Given the description of an element on the screen output the (x, y) to click on. 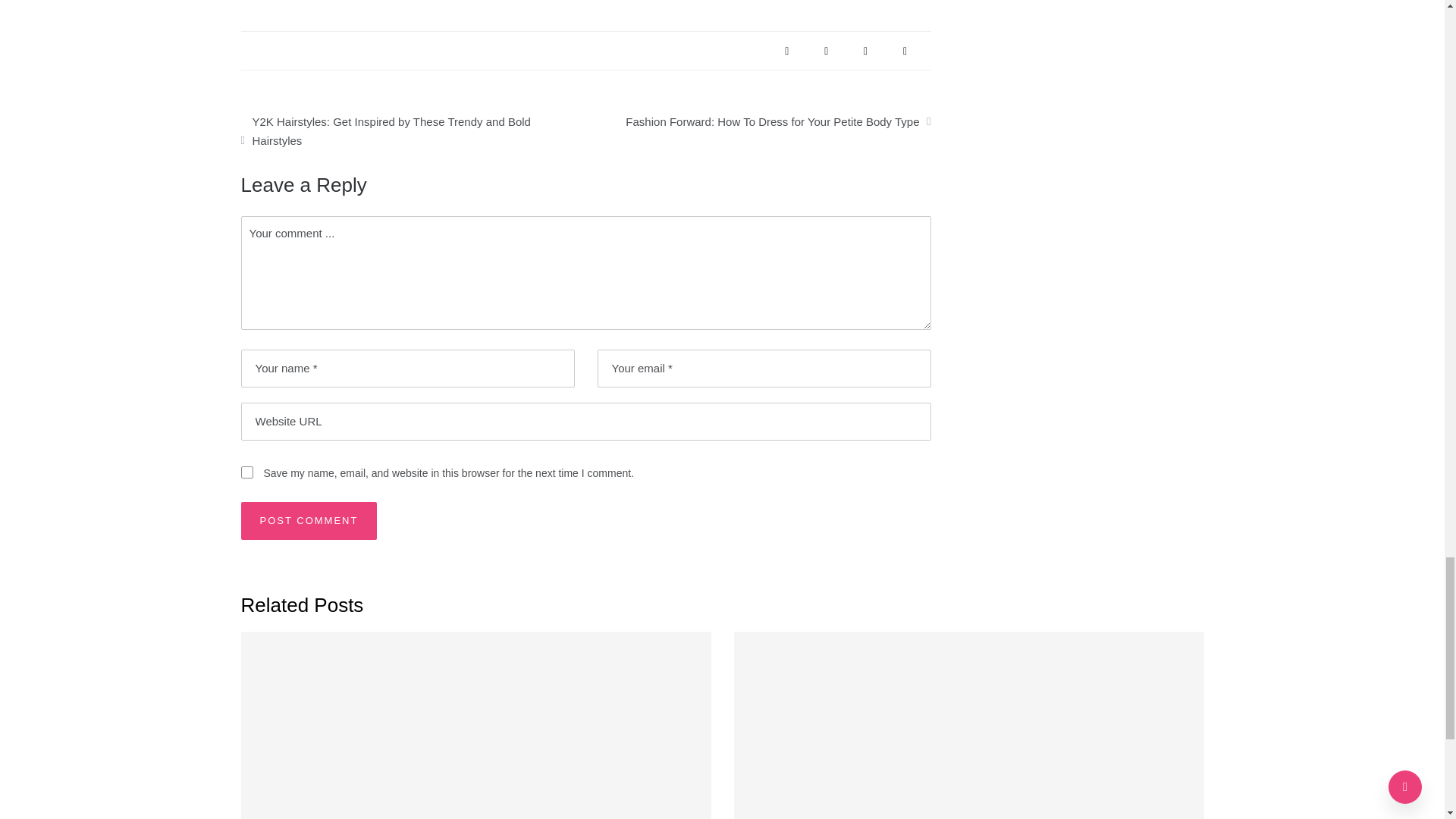
Post Comment (309, 520)
yes (247, 472)
Post Comment (309, 520)
Fashion Forward: How To Dress for Your Petite Body Type (758, 118)
